Given the description of an element on the screen output the (x, y) to click on. 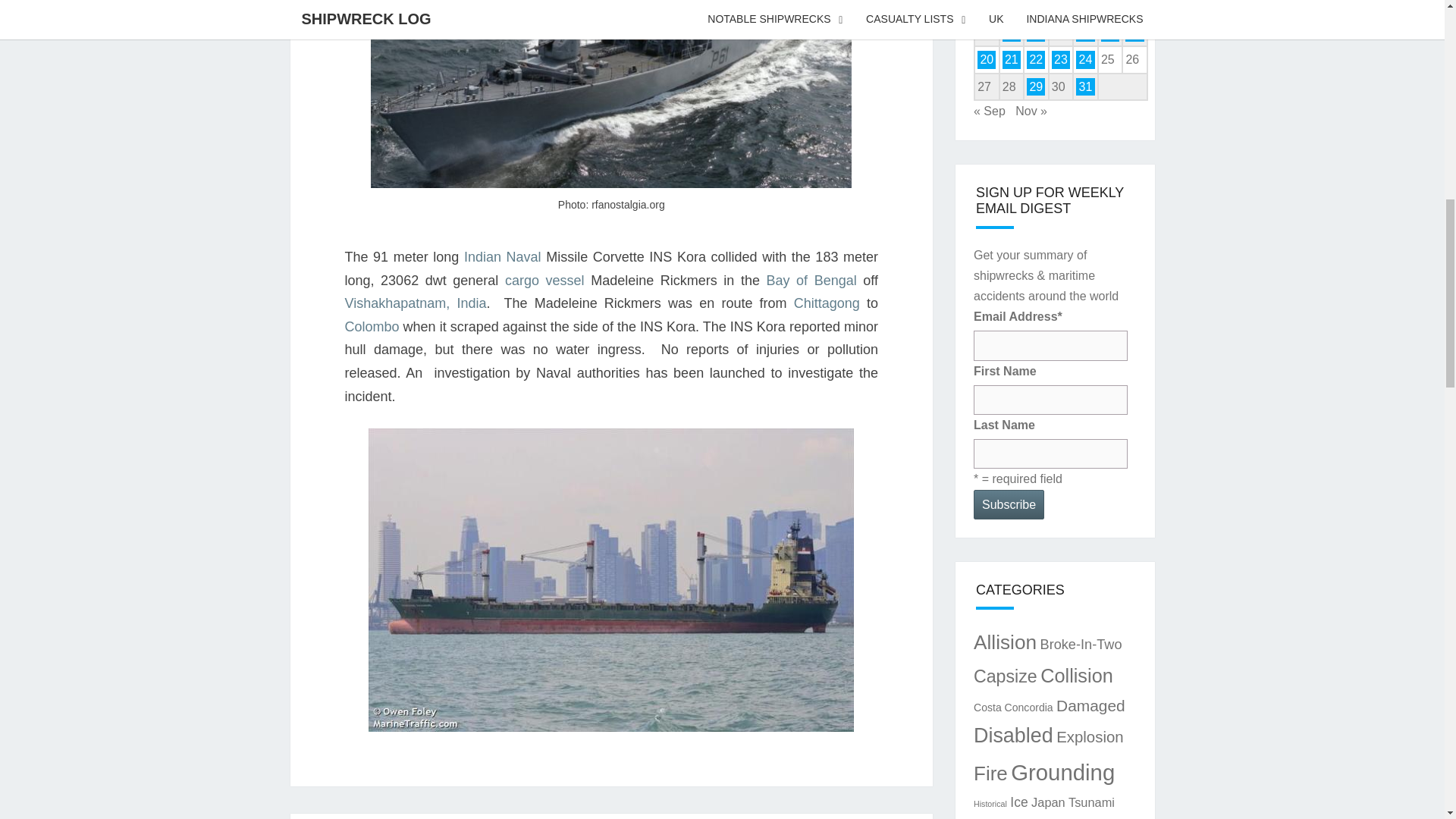
cargo vessel (545, 280)
Indian Naval (502, 256)
Colombo (370, 326)
Indian Navy (502, 256)
Cargo ship (545, 280)
Bay of Bengal (812, 280)
Visakhapatnam (414, 303)
Chittagong (826, 303)
Chittagong (826, 303)
Subscribe (1008, 504)
